Given the description of an element on the screen output the (x, y) to click on. 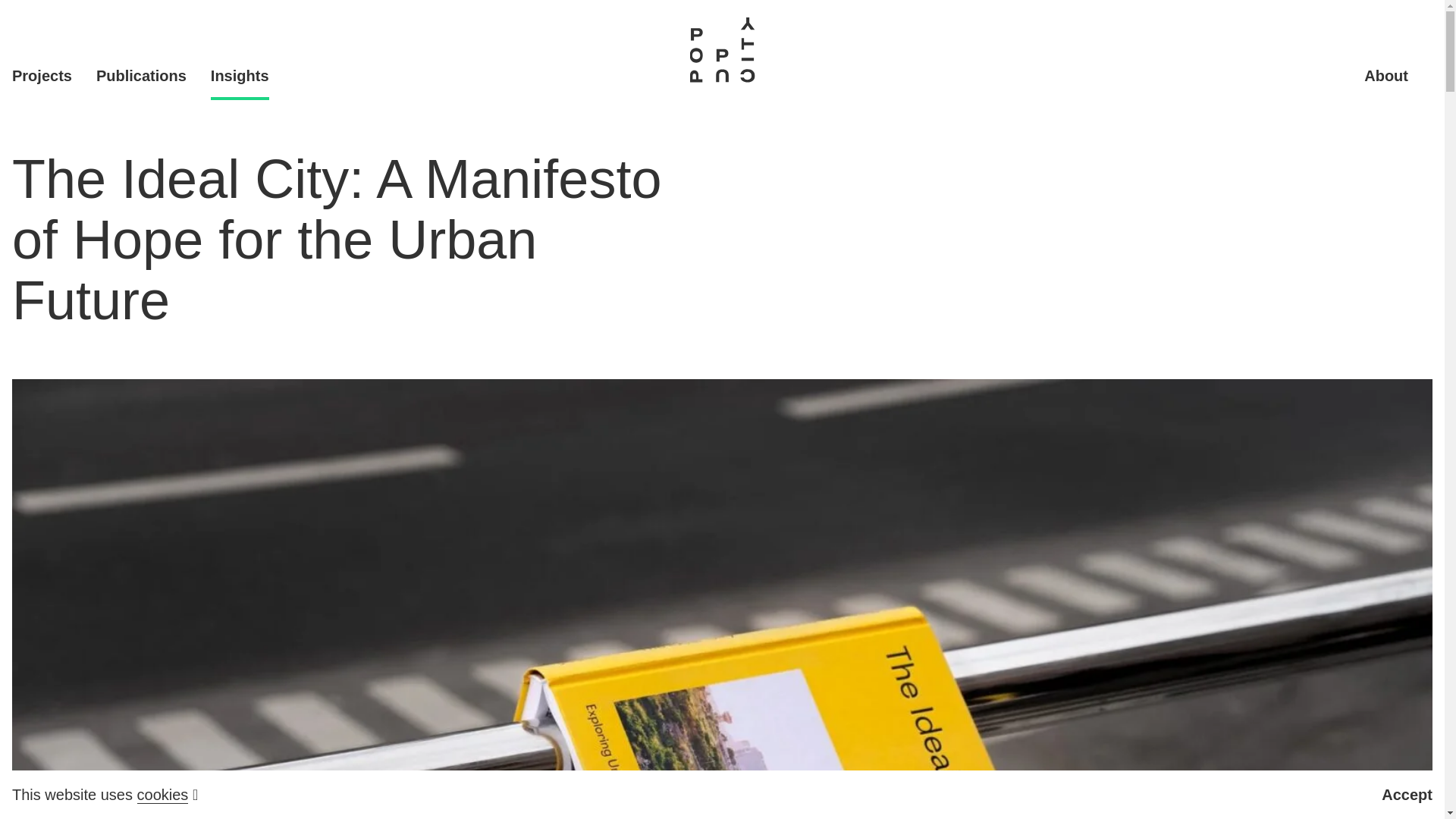
Publications (141, 75)
Publications (141, 75)
Projects (41, 75)
Insights (240, 75)
Insights (240, 75)
Accept (1406, 794)
Home (721, 49)
cookies (162, 794)
About (1385, 75)
Projects (41, 75)
